Given the description of an element on the screen output the (x, y) to click on. 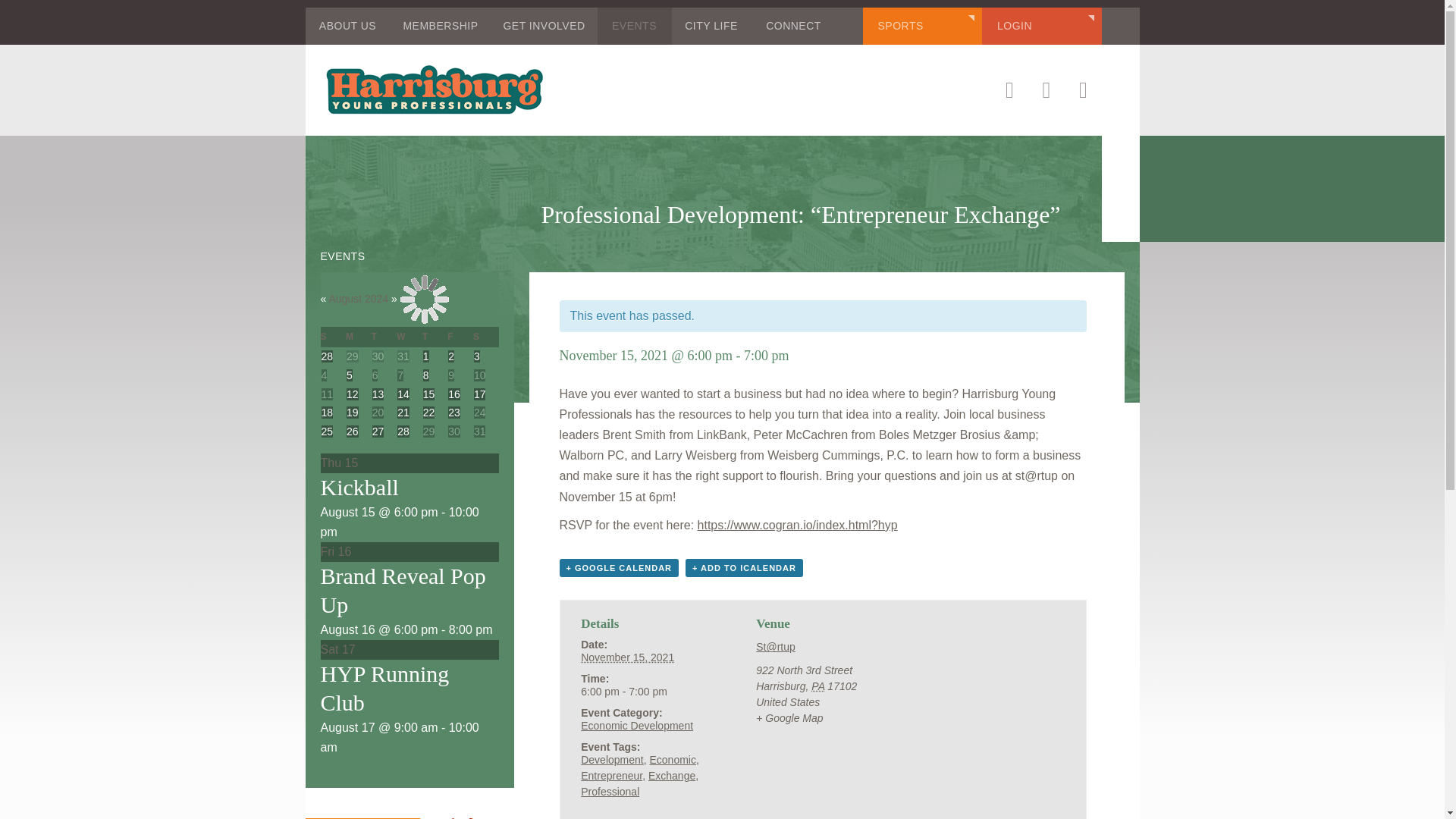
15 (429, 394)
LOGIN (1041, 26)
21 (403, 412)
CONNECT (793, 26)
13 (378, 394)
25 (327, 431)
23 (454, 412)
CITY LIFE (711, 26)
28 (403, 431)
Kickball (358, 487)
